Given the description of an element on the screen output the (x, y) to click on. 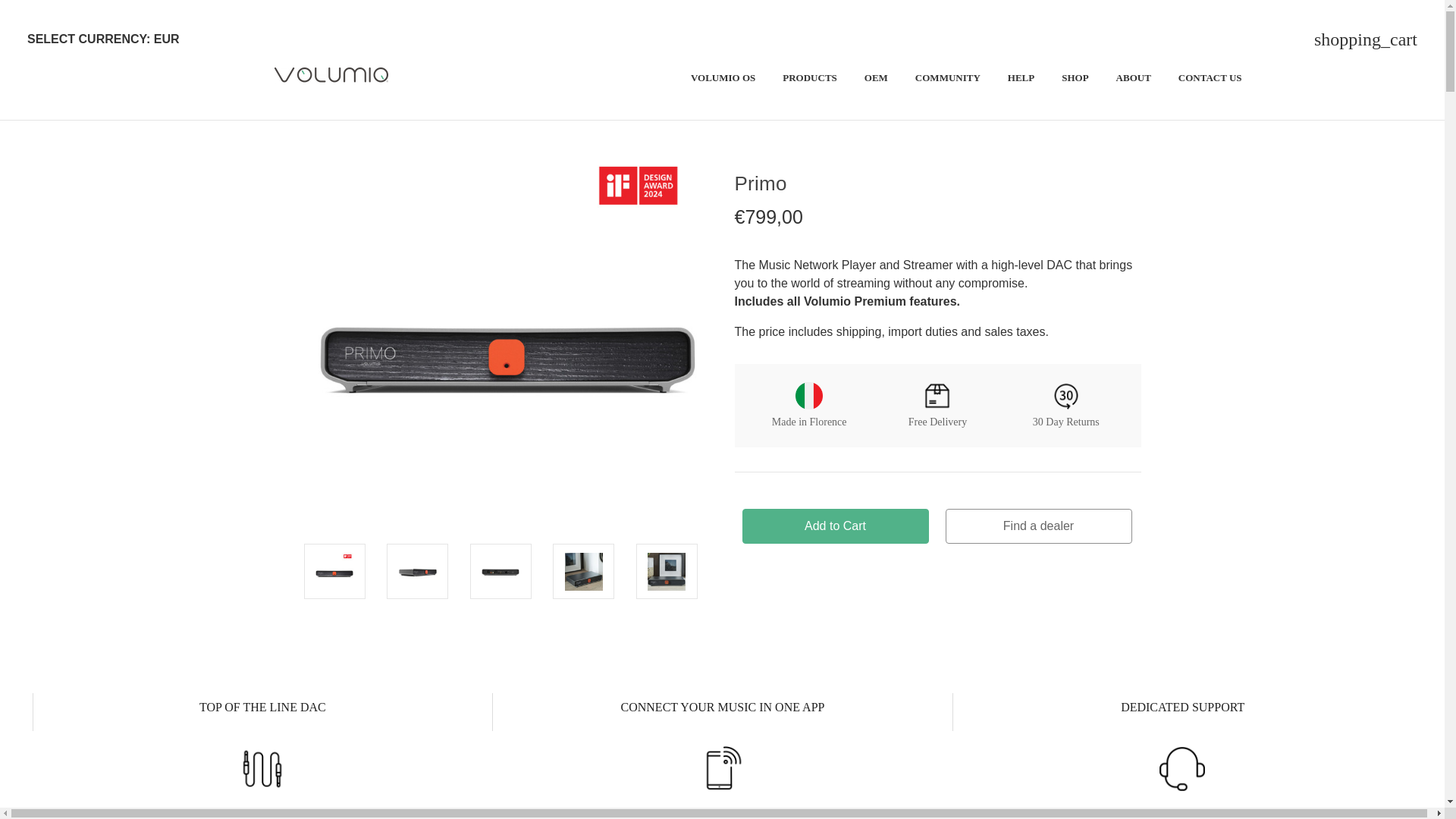
Find a dealer (1037, 524)
OEM (875, 80)
Add to Cart (834, 524)
HELP (1021, 80)
Add to Cart (834, 524)
SELECT CURRENCY: EUR (108, 39)
CONTACT US (1209, 80)
PRODUCTS (809, 80)
Volumio Shop (331, 75)
ABOUT (1133, 80)
